Given the description of an element on the screen output the (x, y) to click on. 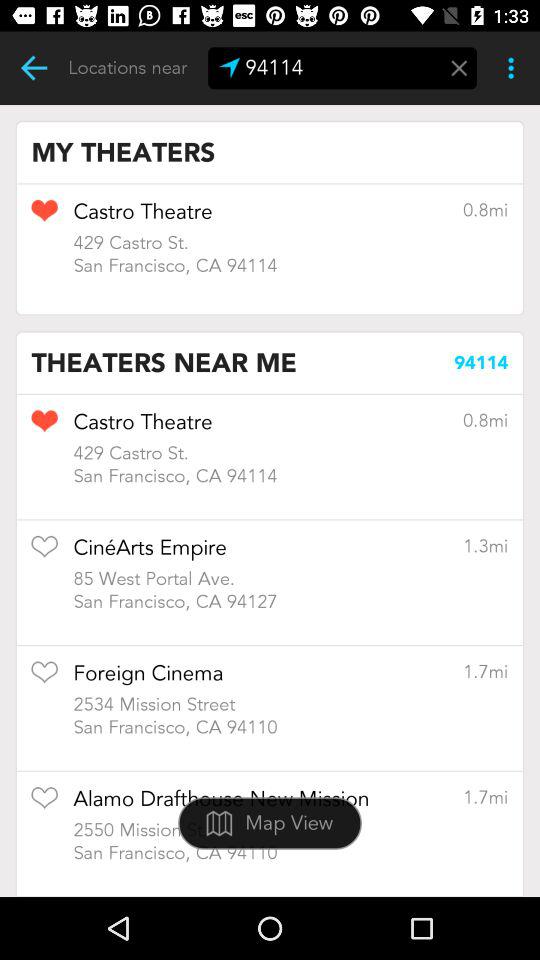
like option (44, 804)
